Given the description of an element on the screen output the (x, y) to click on. 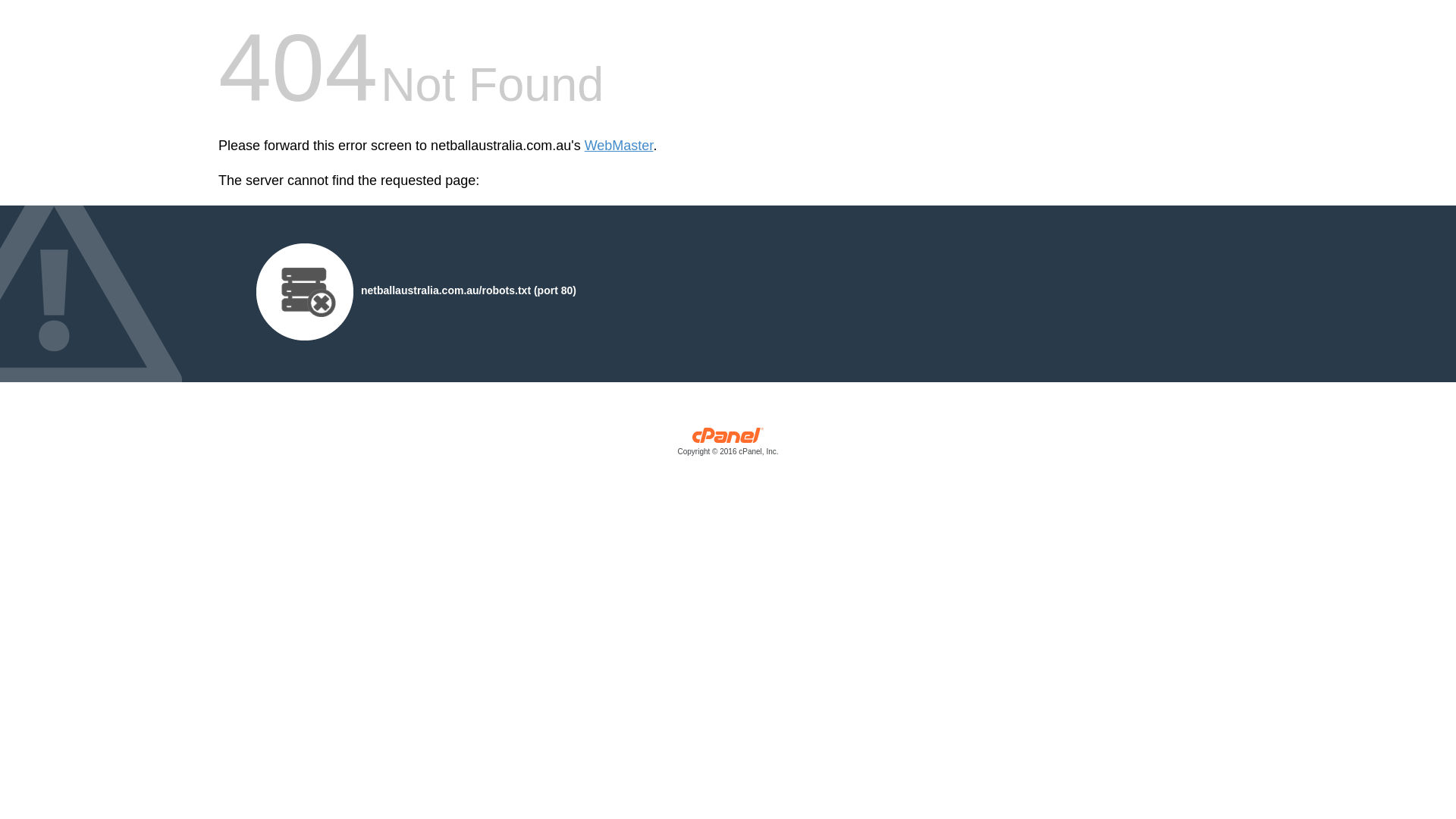
WebMaster Element type: text (618, 145)
